Given the description of an element on the screen output the (x, y) to click on. 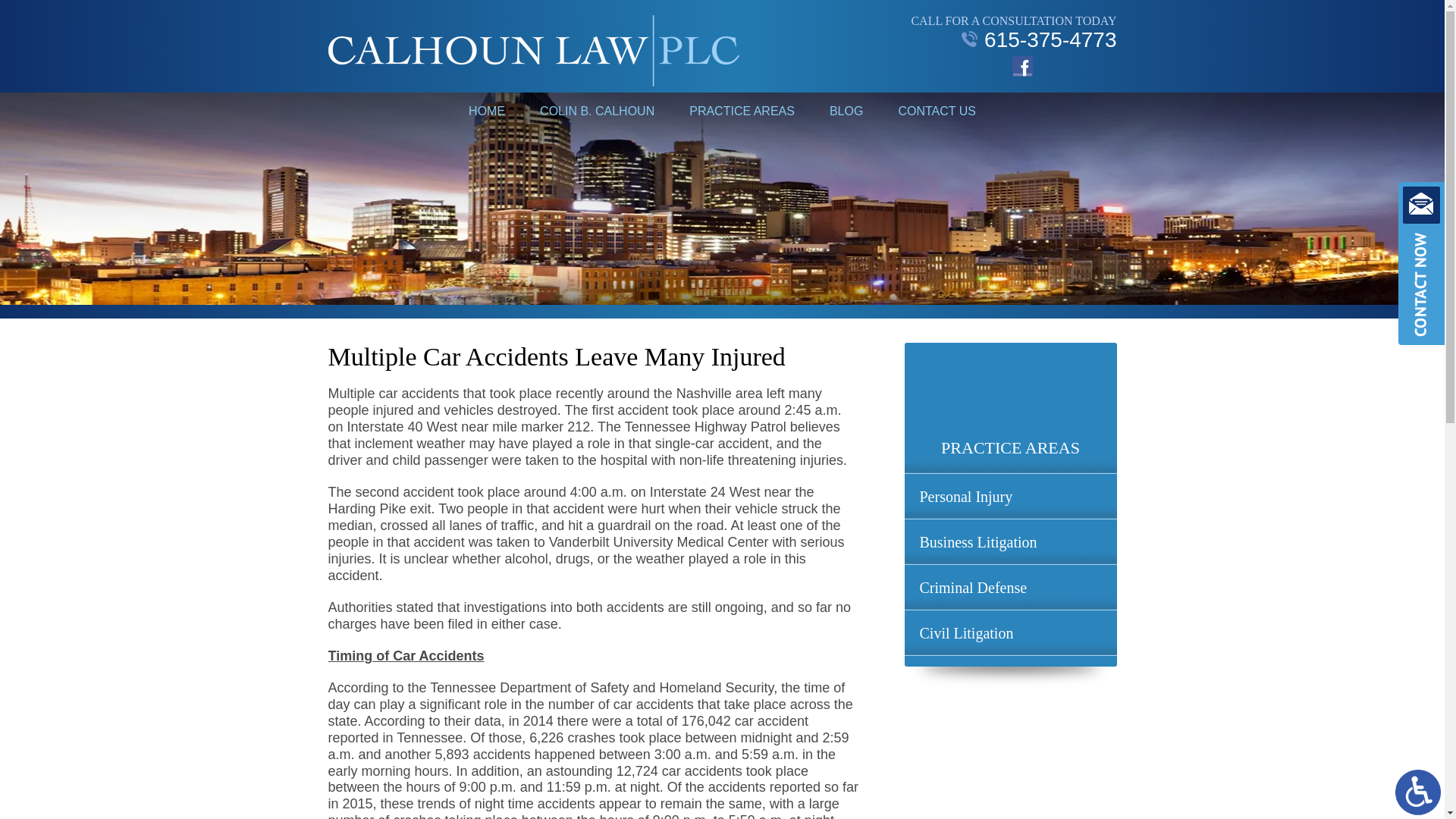
615-375-4773 (1013, 39)
HOME (486, 111)
CONTACT US (936, 111)
BLOG (846, 111)
PRACTICE AREAS (741, 111)
COLIN B. CALHOUN (596, 111)
